Given the description of an element on the screen output the (x, y) to click on. 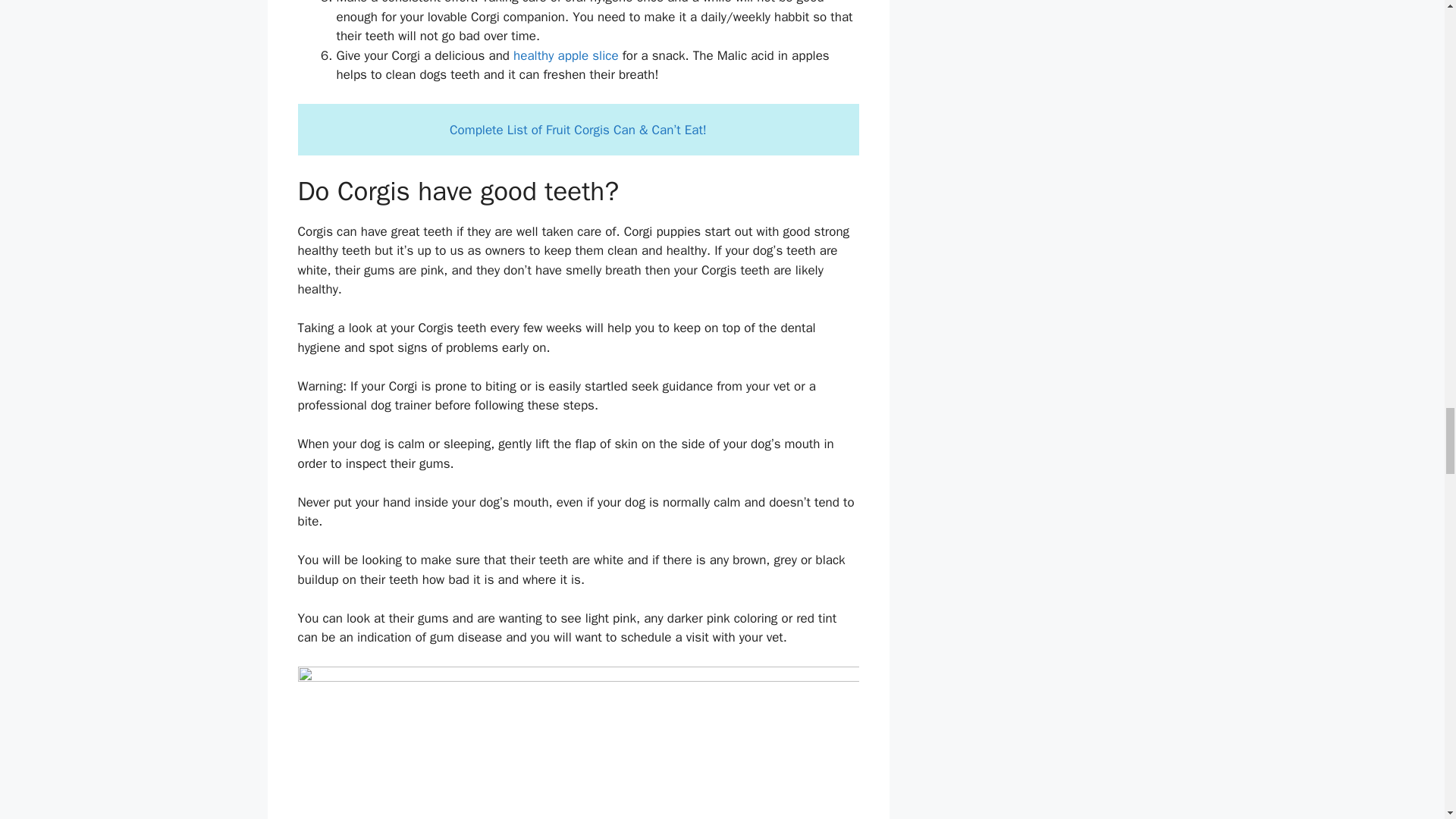
healthy apple slice (565, 55)
